Given the description of an element on the screen output the (x, y) to click on. 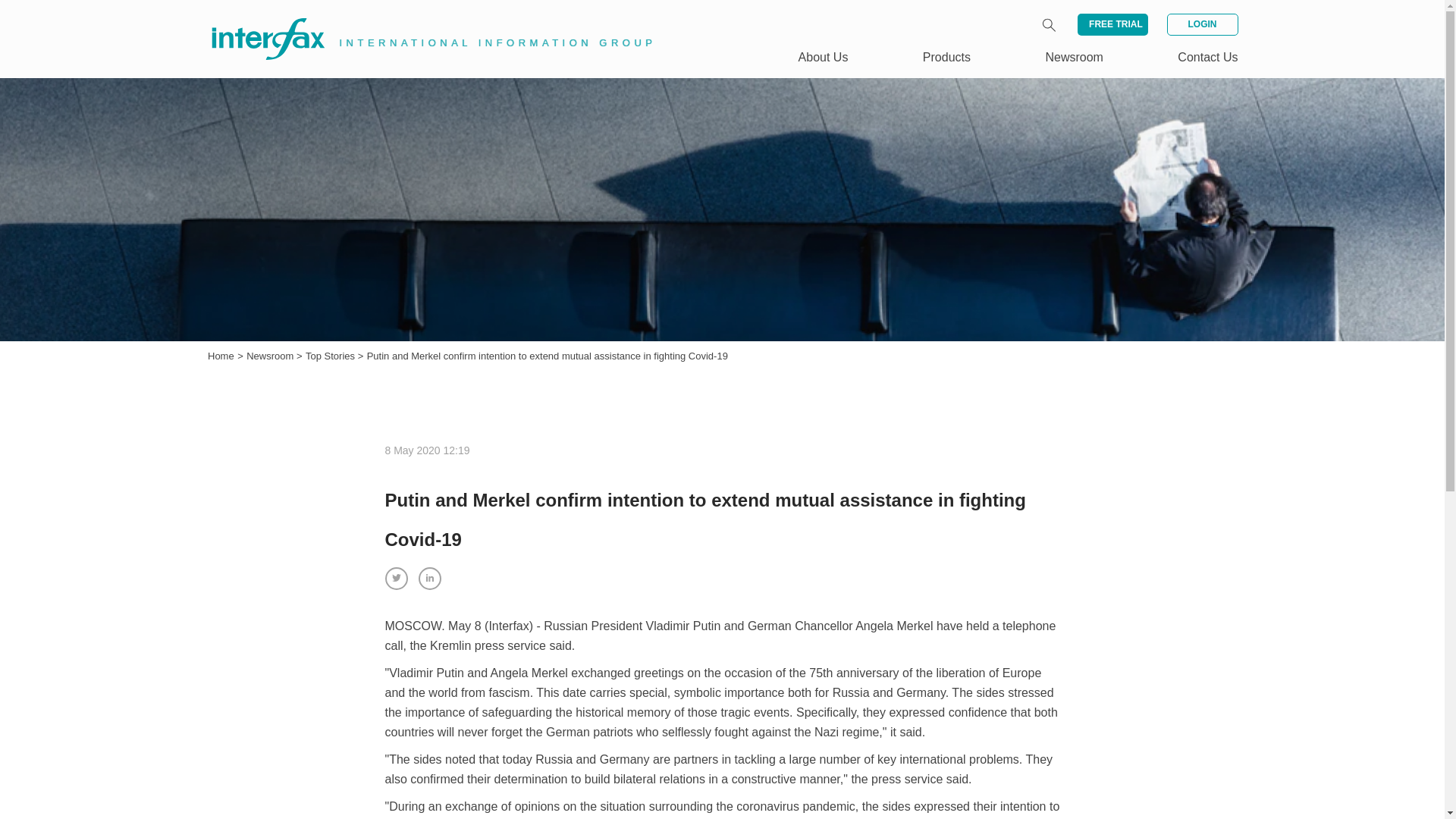
Home (221, 355)
Top Stories (331, 355)
About Us (822, 56)
Contact Us (1207, 56)
Contact Us (1207, 56)
Newsroom (1073, 56)
Products (947, 56)
Newsroom (271, 355)
FREE TRIAL (1112, 24)
LOGIN (1201, 24)
INTERNATIONAL INFORMATION GROUP (421, 20)
Newsroom (271, 355)
